Given the description of an element on the screen output the (x, y) to click on. 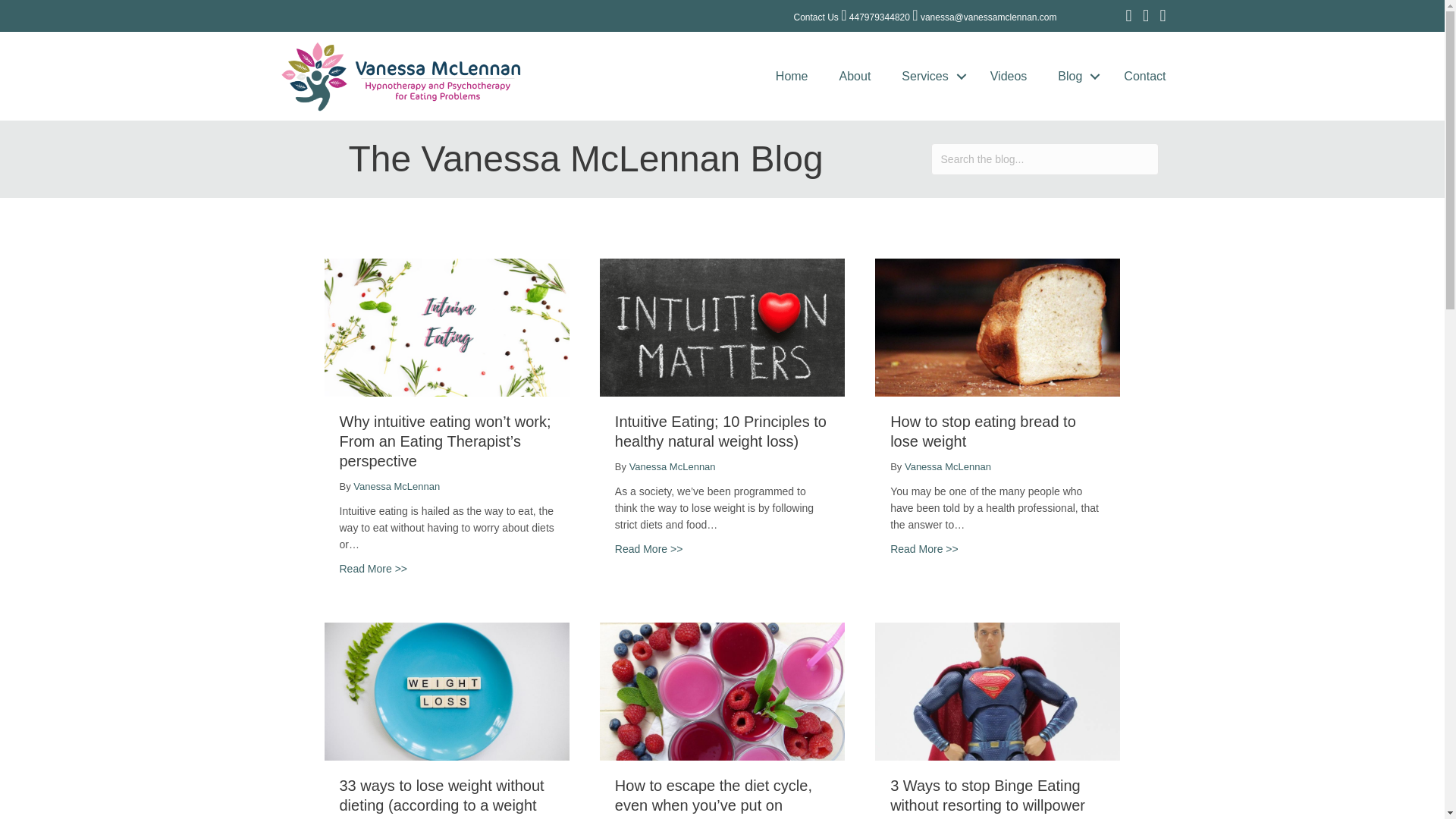
Home (792, 76)
Contact Us  447979344820 (850, 17)
About (855, 76)
Services (930, 76)
Vm Logo (401, 75)
How to stop eating bread to lose weight (982, 431)
Vanessa McLennan (947, 466)
Blog (1075, 76)
Contact (1144, 76)
How to stop eating bread to lose weight (997, 326)
Videos (1008, 76)
How to stop eating bread to lose weight (923, 548)
Vanessa McLennan (672, 466)
Vanessa McLennan (396, 486)
How to stop eating bread to lose weight (982, 431)
